Given the description of an element on the screen output the (x, y) to click on. 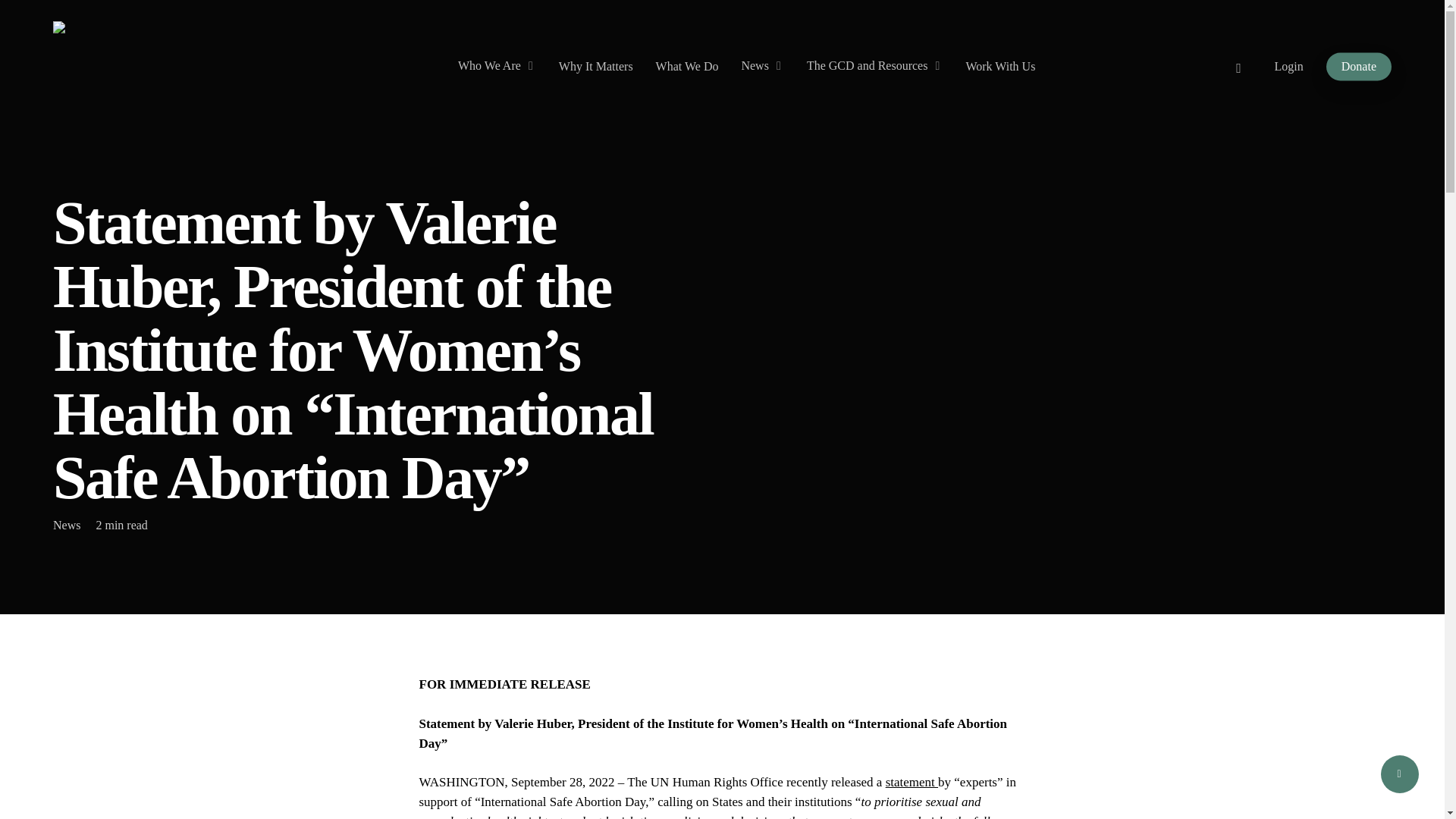
The GCD and Resources (874, 65)
twitter (1238, 66)
Who We Are (496, 65)
Login (1289, 66)
Work With Us (1000, 66)
Why It Matters (596, 66)
News (66, 524)
What We Do (687, 66)
News (762, 65)
statement (911, 781)
Donate (1358, 66)
